Given the description of an element on the screen output the (x, y) to click on. 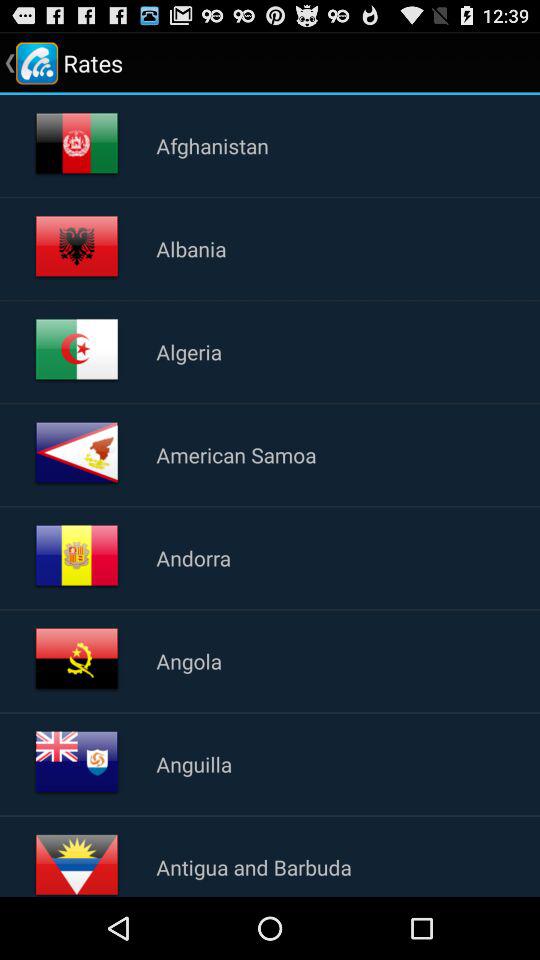
click afghanistan icon (212, 145)
